Given the description of an element on the screen output the (x, y) to click on. 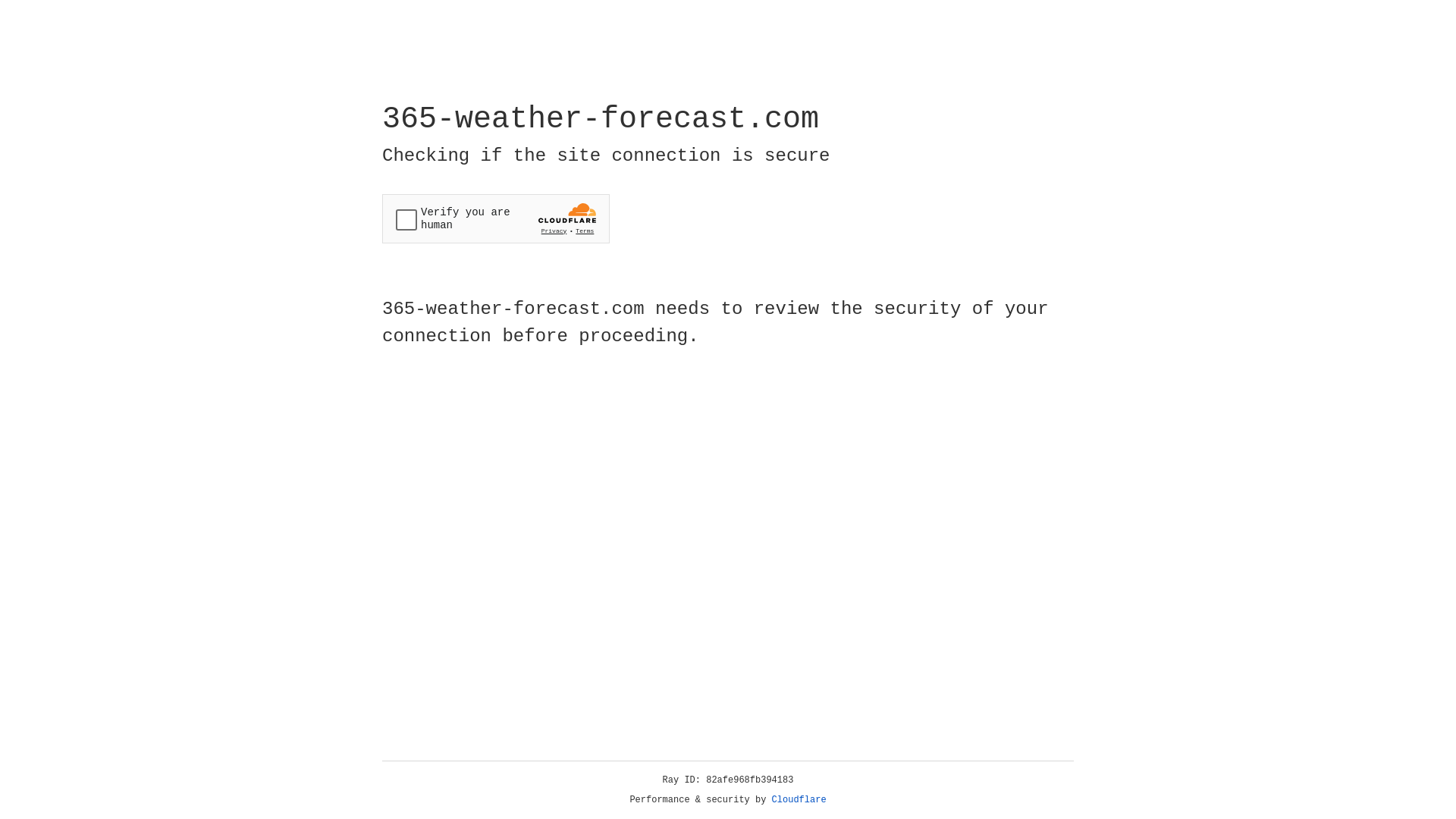
Widget containing a Cloudflare security challenge Element type: hover (495, 218)
Cloudflare Element type: text (798, 799)
